Given the description of an element on the screen output the (x, y) to click on. 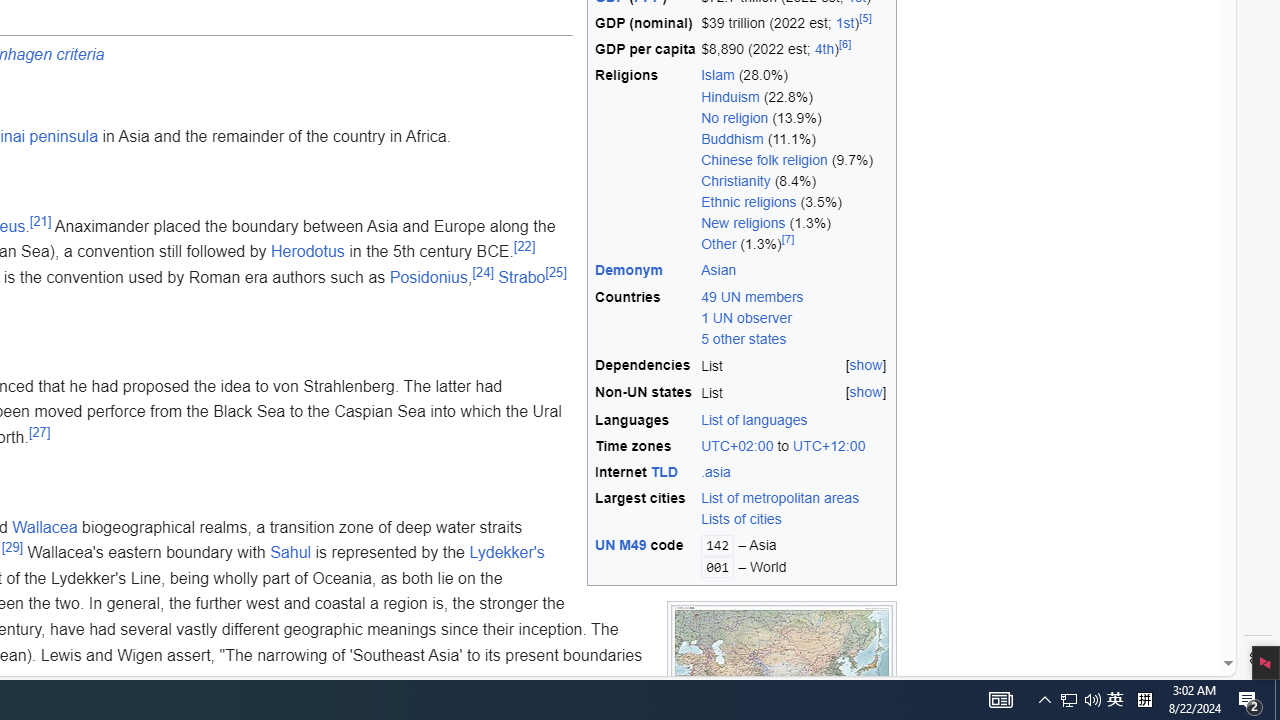
UTC+12:00 (829, 446)
Posidonius (428, 276)
Dependencies (645, 365)
Lists of cities (795, 520)
Lists of cities (741, 519)
List of metropolitan areas Lists of cities (795, 509)
UTC+02:00 (737, 446)
[show] (865, 392)
$39 trillion (2022 est; 1st)[5] (795, 24)
New religions (743, 223)
Ethnic religions (749, 201)
[21] (40, 220)
